Given the description of an element on the screen output the (x, y) to click on. 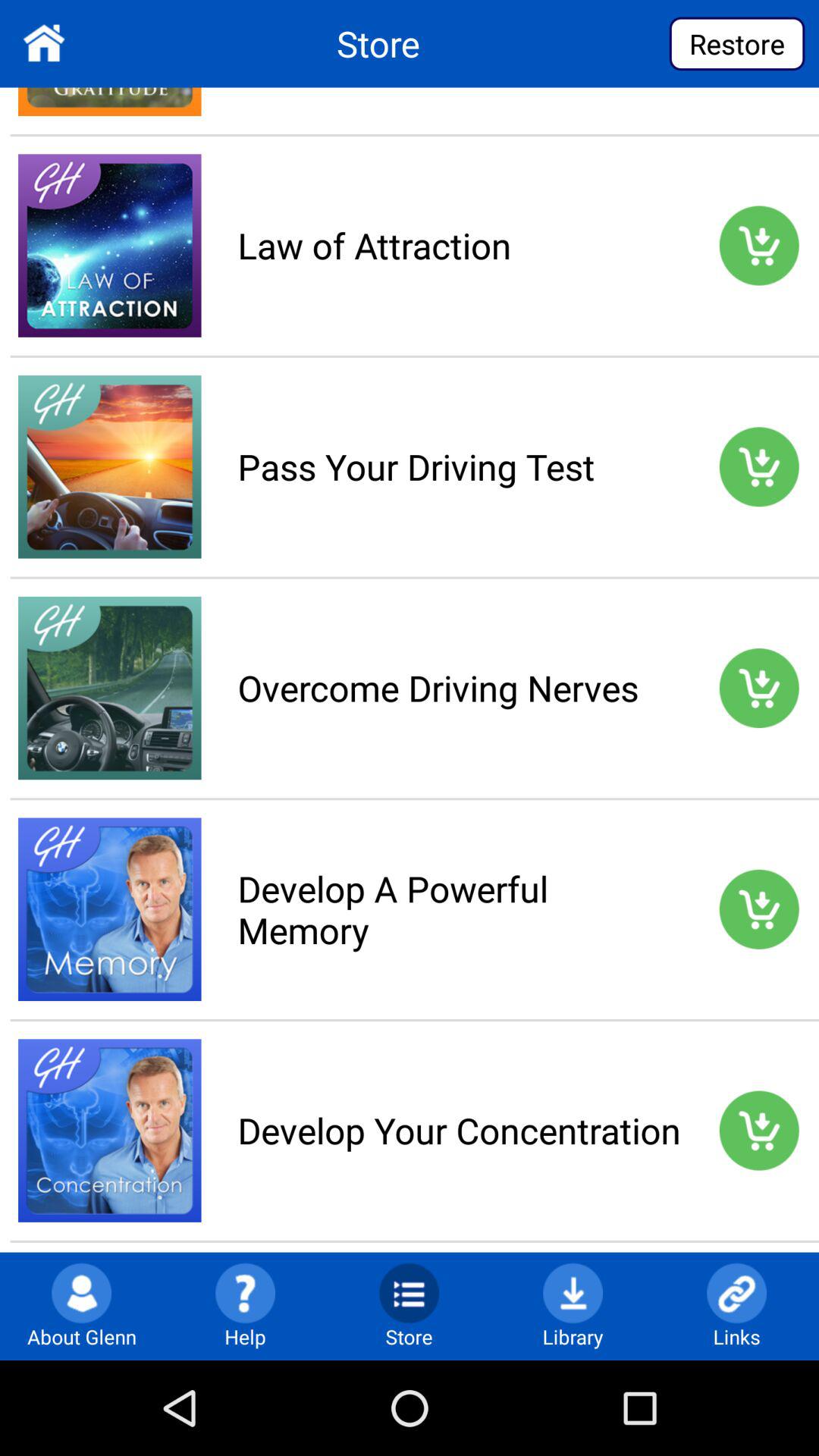
flip until develop your concentration (459, 1130)
